Given the description of an element on the screen output the (x, y) to click on. 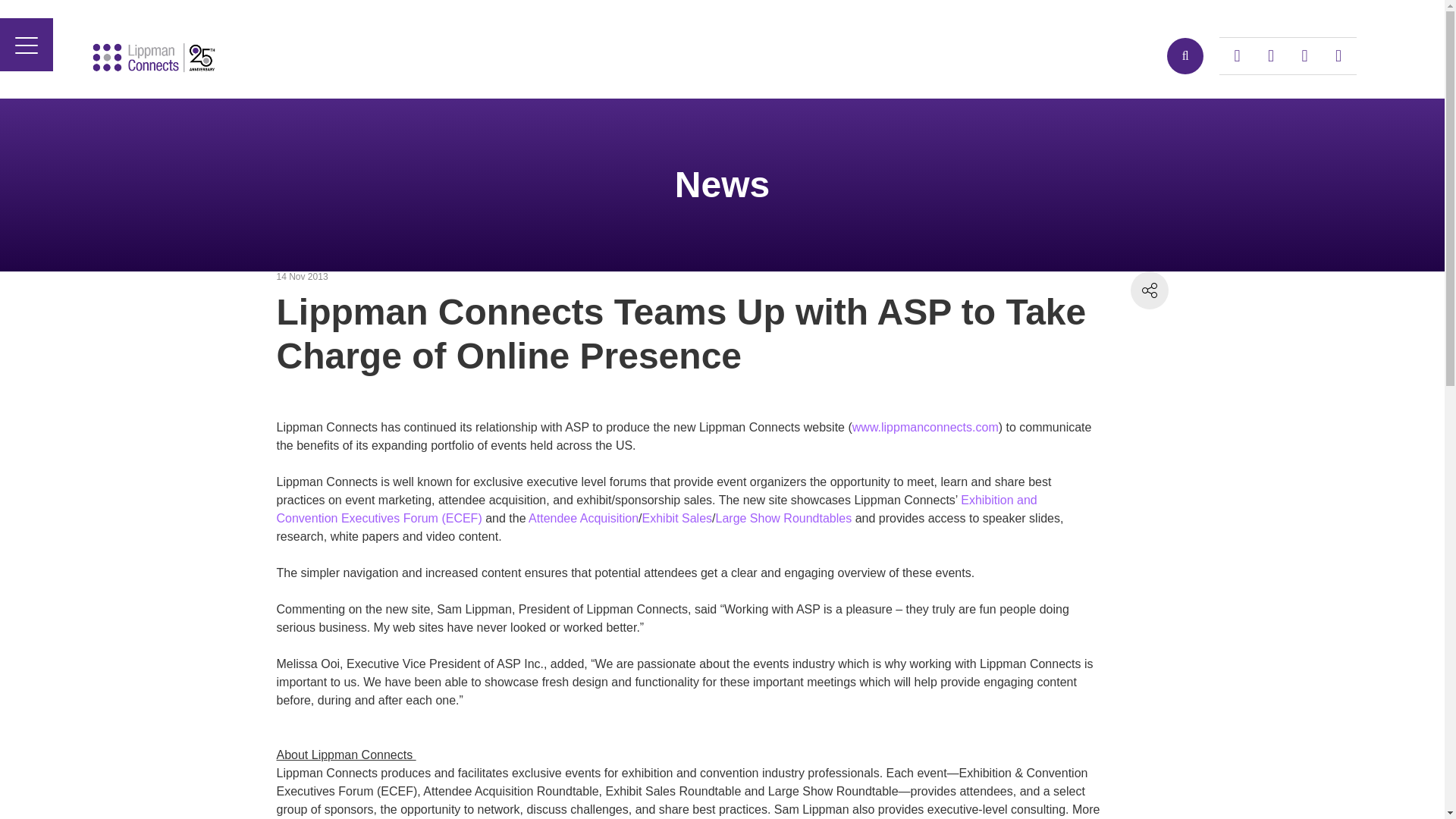
Flickr (1305, 55)
MENU (26, 44)
Exhibit Sales (677, 517)
Twitter (1338, 55)
www.lippmanconnects.com (924, 427)
Search (1185, 55)
Linkedin (1270, 55)
Large Show Roundtables (783, 517)
Attendee Acquisition (583, 517)
Youtube (1237, 55)
